Given the description of an element on the screen output the (x, y) to click on. 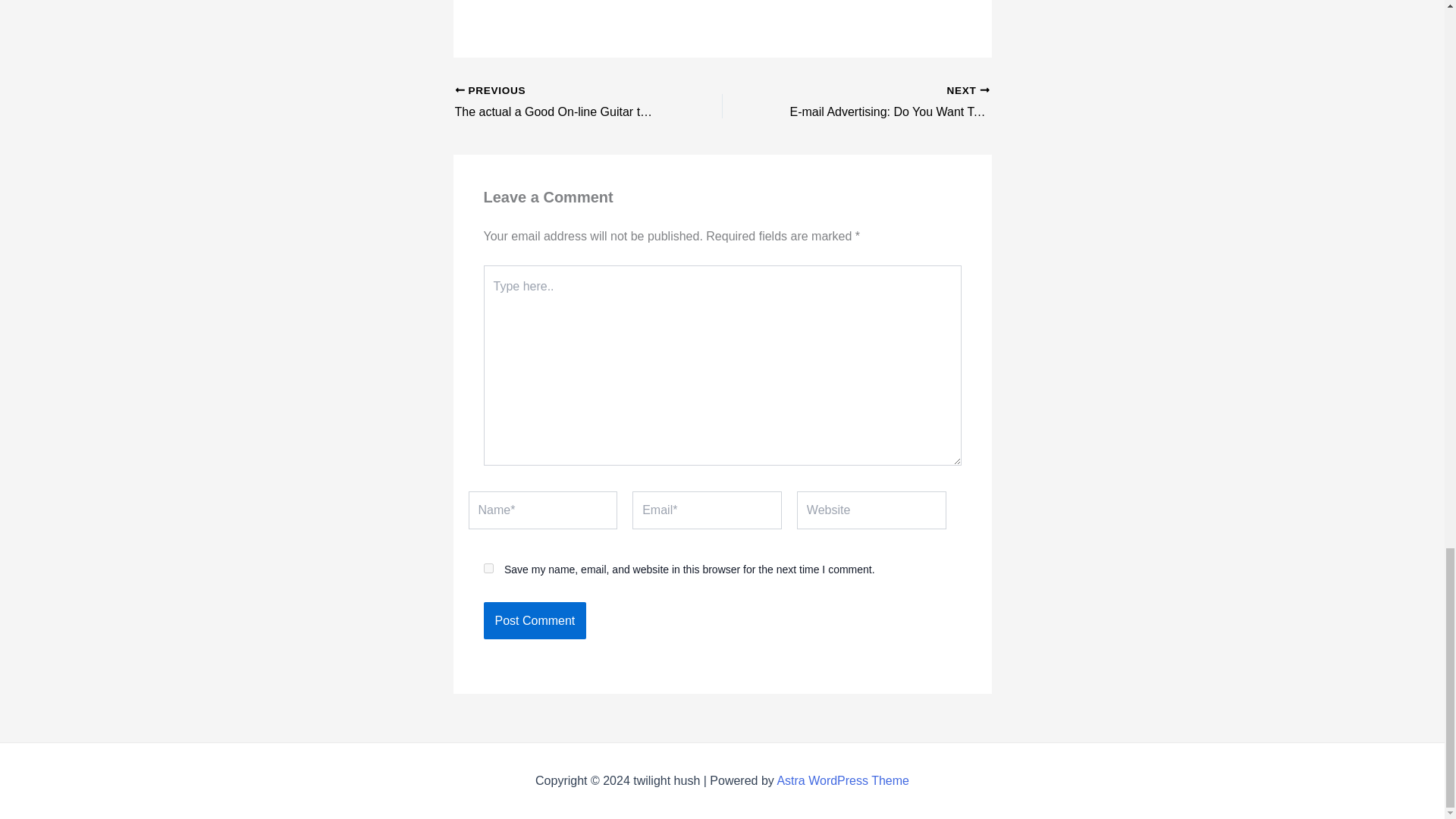
yes (488, 568)
Post Comment (534, 620)
Post Comment (534, 620)
Astra WordPress Theme (842, 780)
